Given the description of an element on the screen output the (x, y) to click on. 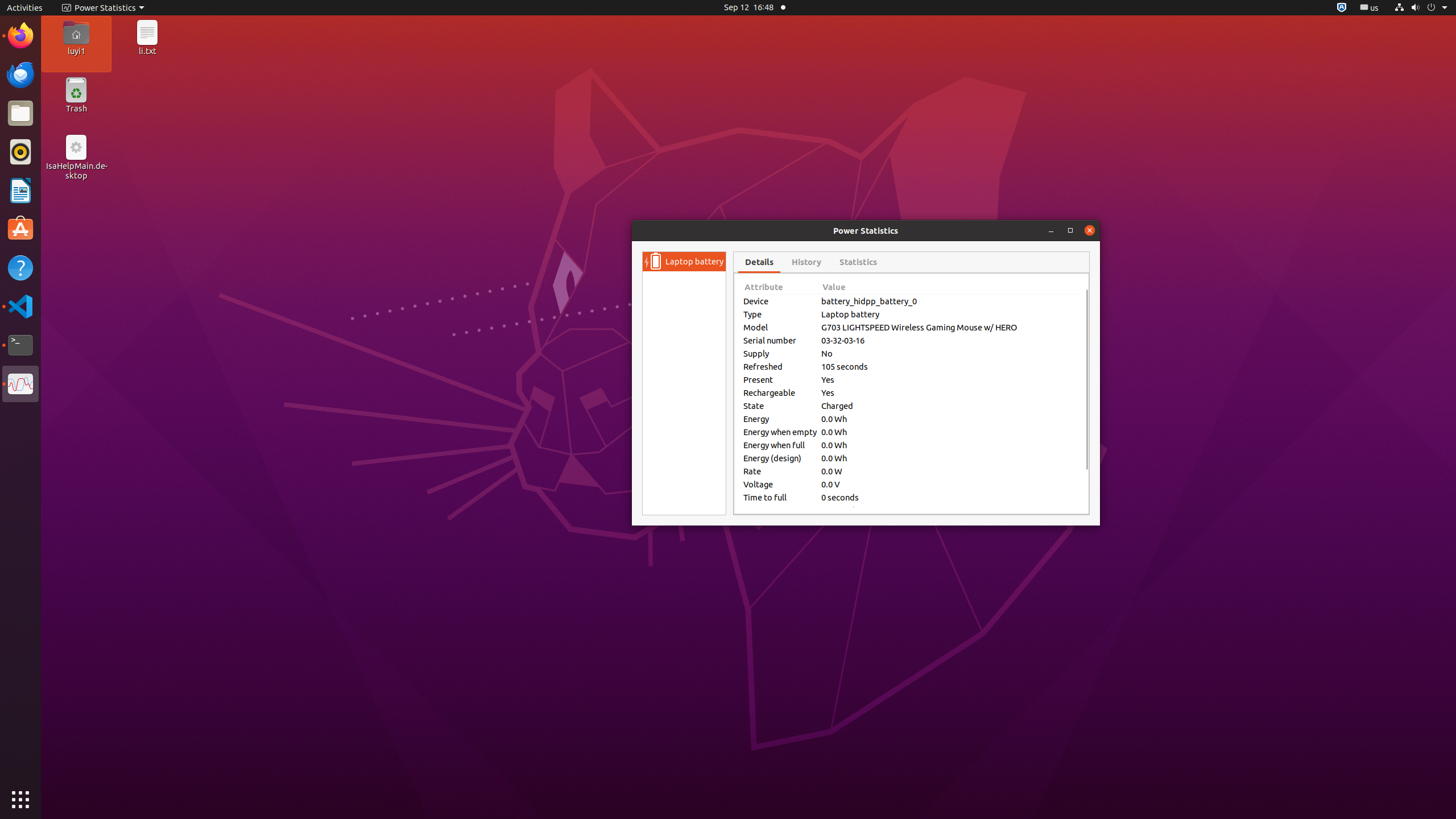
105 seconds Element type: table-cell (950, 366)
Firefox Web Browser Element type: push-button (20, 35)
Rate Element type: table-cell (779, 471)
Charged Element type: table-cell (950, 405)
